Given the description of an element on the screen output the (x, y) to click on. 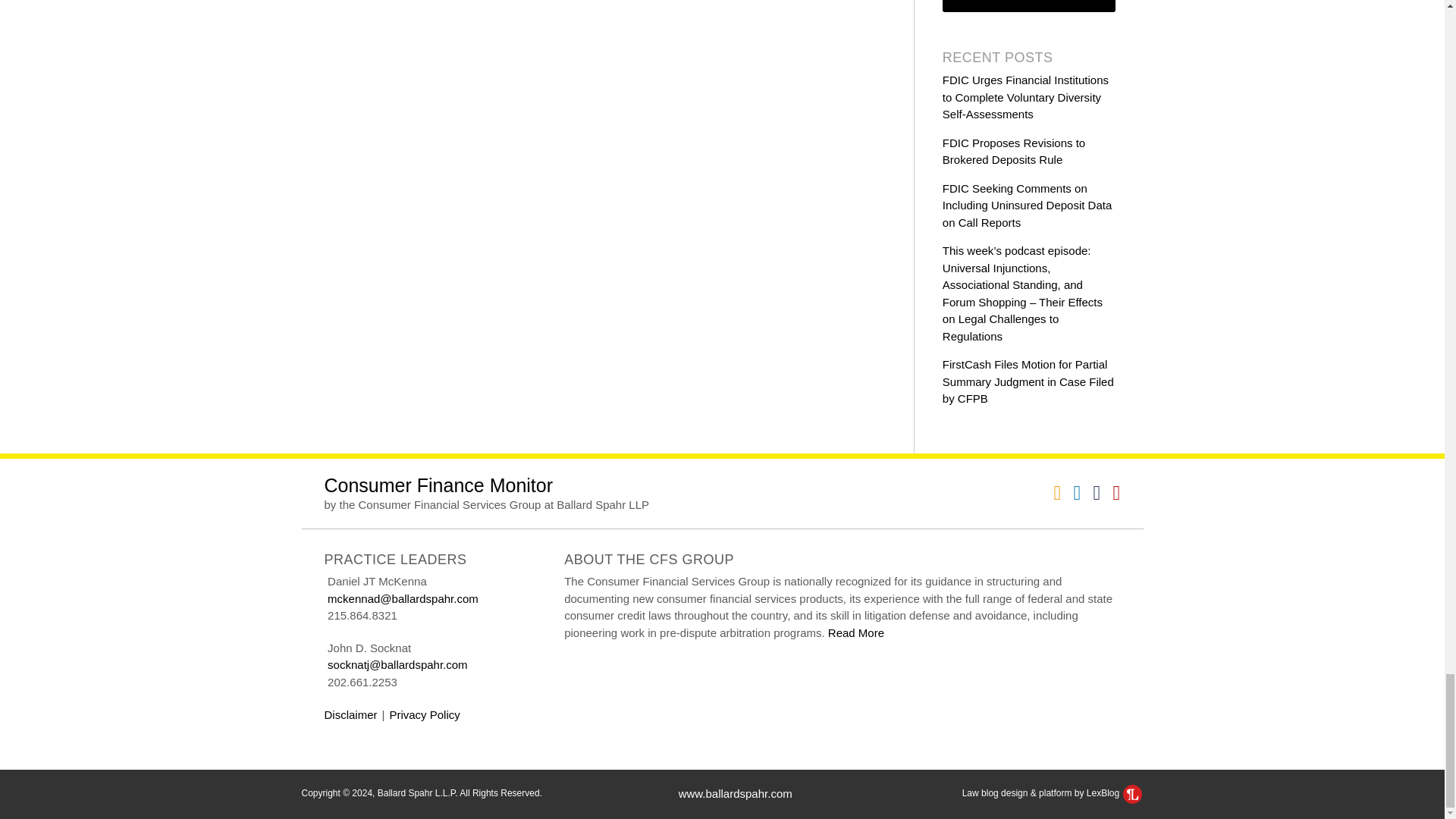
LexBlog Logo (1131, 793)
